Given the description of an element on the screen output the (x, y) to click on. 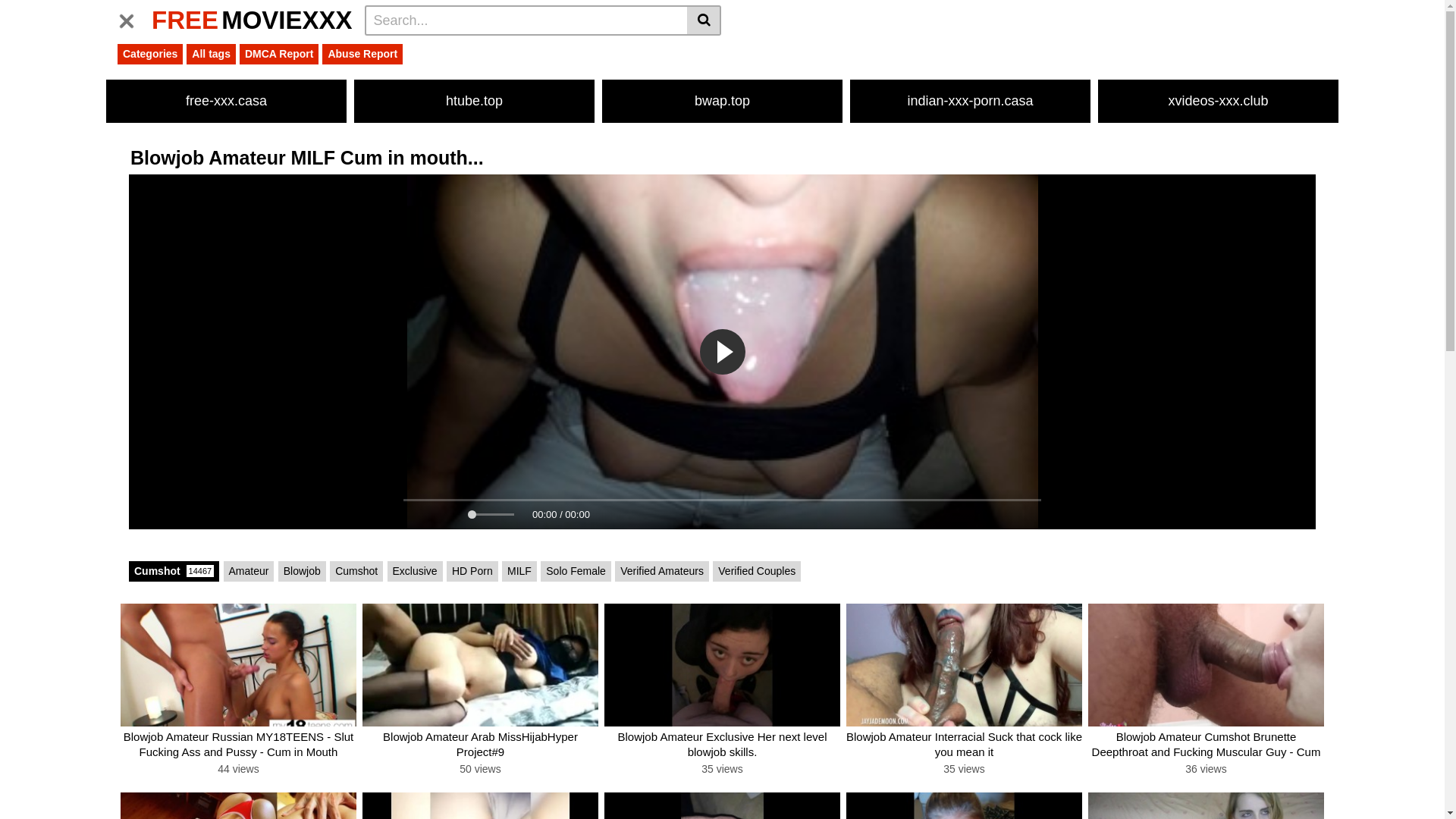
Verified Couples Element type: text (756, 571)
free-xxx.casa Element type: text (226, 100)
All tags Element type: text (210, 53)
Blowjob Amateur Arab MissHijabHyper Project#9 Element type: hover (480, 664)
Cumshot 14467 Element type: text (173, 571)
FREE MOVIEXXX Element type: text (252, 20)
Blowjob Amateur Exclusive Her next level blowjob skills. Element type: hover (722, 664)
xvideos-xxx.club Element type: text (1218, 100)
Exclusive Element type: text (414, 571)
Amateur Element type: text (247, 571)
Blowjob Amateur Interracial Suck that cock like you mean it Element type: text (964, 744)
DMCA Report Element type: text (278, 53)
Blowjob Amateur Exclusive Her next level blowjob skills. Element type: hover (722, 669)
indian-xxx-porn.casa Element type: text (970, 100)
Blowjob Element type: text (302, 571)
Blowjob Amateur Arab MissHijabHyper Project#9 Element type: text (480, 744)
Blowjob Amateur Interracial Suck that cock like you mean it Element type: hover (964, 664)
Blowjob Amateur Arab MissHijabHyper Project#9 Element type: hover (480, 669)
Verified Amateurs Element type: text (662, 571)
bwap.top Element type: text (722, 100)
MILF Element type: text (519, 571)
HD Porn Element type: text (472, 571)
Solo Female Element type: text (575, 571)
htube.top Element type: text (474, 100)
Cumshot Element type: text (355, 571)
Abuse Report Element type: text (362, 53)
Categories Element type: text (149, 53)
Blowjob Amateur Interracial Suck that cock like you mean it Element type: hover (964, 669)
Blowjob Amateur Exclusive Her next level blowjob skills. Element type: text (722, 744)
